Given the description of an element on the screen output the (x, y) to click on. 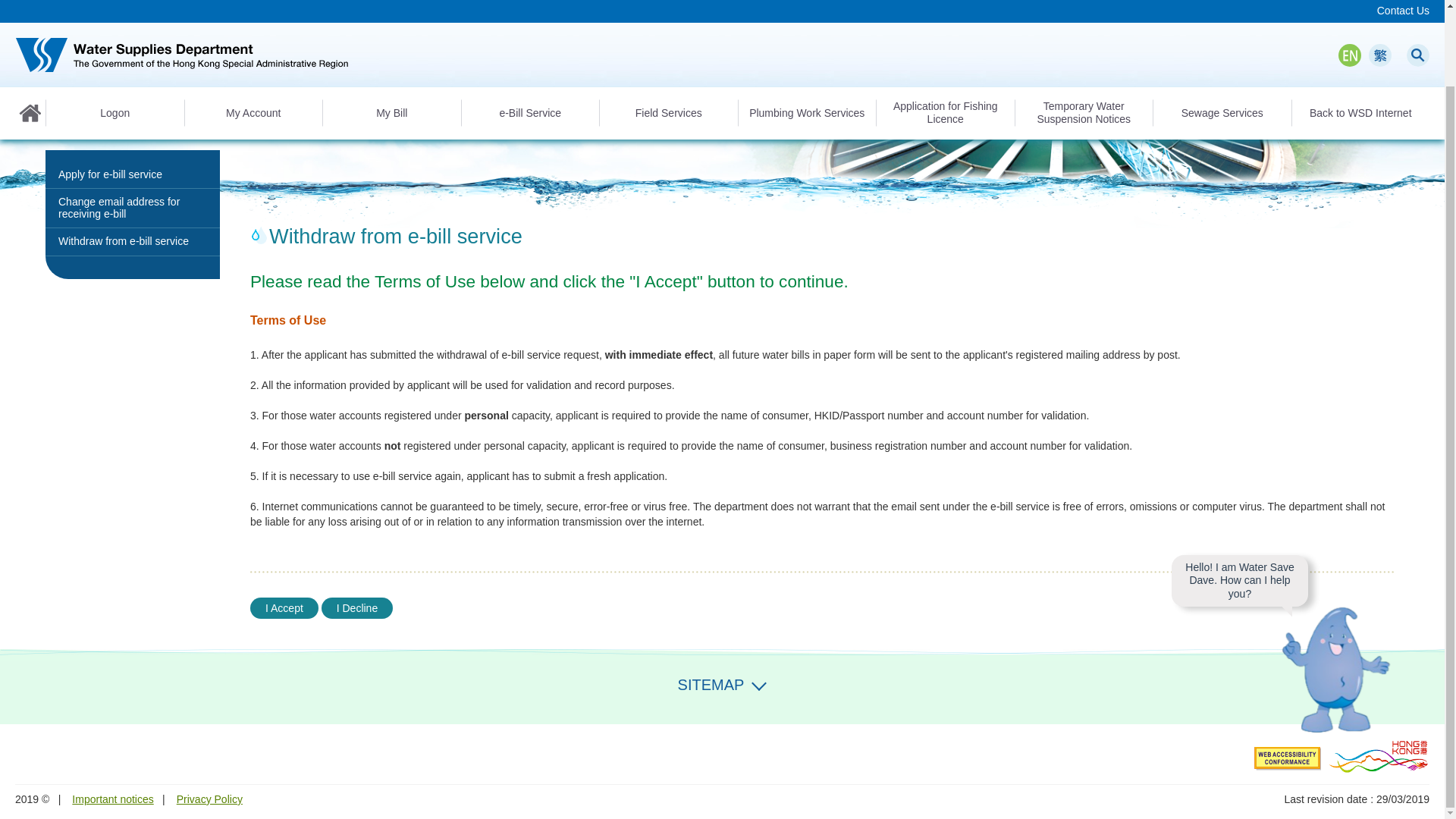
Brand Hong Kong - Asia's world city (1378, 755)
I Decline (357, 608)
I Accept (284, 608)
